Given the description of an element on the screen output the (x, y) to click on. 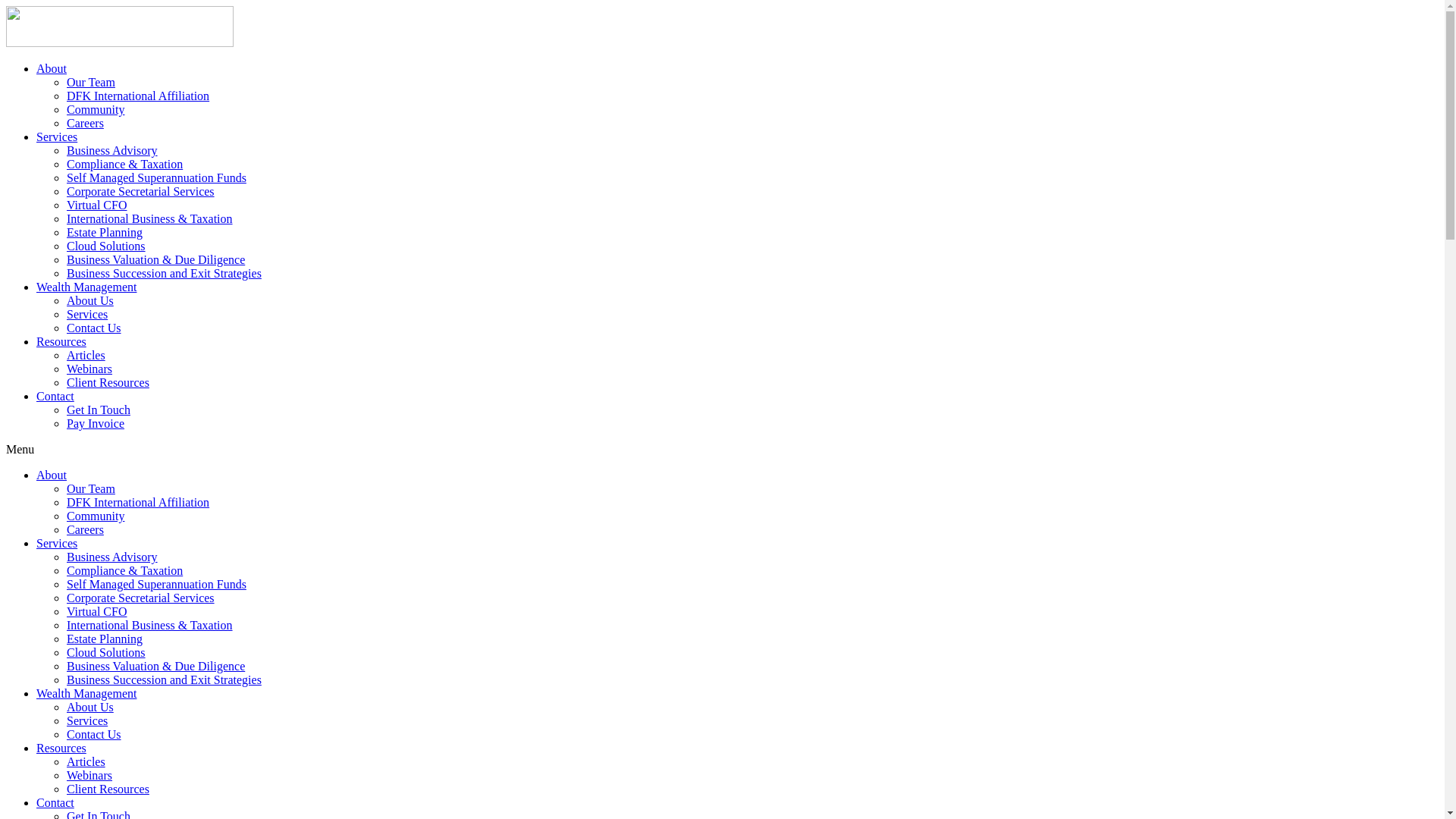
DFK International Affiliation Element type: text (137, 501)
Get In Touch Element type: text (98, 409)
Virtual CFO Element type: text (96, 611)
Community Element type: text (95, 109)
Services Element type: text (86, 720)
Resources Element type: text (61, 341)
Contact Us Element type: text (93, 734)
Compliance & Taxation Element type: text (124, 570)
Business Valuation & Due Diligence Element type: text (155, 665)
Careers Element type: text (84, 122)
Articles Element type: text (85, 761)
Virtual CFO Element type: text (96, 204)
Cloud Solutions Element type: text (105, 652)
Business Valuation & Due Diligence Element type: text (155, 259)
International Business & Taxation Element type: text (149, 218)
Our Team Element type: text (90, 488)
Business Succession and Exit Strategies Element type: text (163, 272)
Community Element type: text (95, 515)
Contact Element type: text (55, 395)
Wealth Management Element type: text (86, 693)
Contact Element type: text (55, 802)
About Us Element type: text (89, 706)
Resources Element type: text (61, 747)
Services Element type: text (56, 542)
Careers Element type: text (84, 529)
Client Resources Element type: text (107, 788)
Webinars Element type: text (89, 774)
Services Element type: text (56, 136)
Corporate Secretarial Services Element type: text (140, 597)
Articles Element type: text (85, 354)
Self Managed Superannuation Funds Element type: text (156, 177)
Business Succession and Exit Strategies Element type: text (163, 679)
International Business & Taxation Element type: text (149, 624)
Compliance & Taxation Element type: text (124, 163)
About Element type: text (51, 474)
Client Resources Element type: text (107, 382)
Wealth Management Element type: text (86, 286)
Cloud Solutions Element type: text (105, 245)
Our Team Element type: text (90, 81)
Self Managed Superannuation Funds Element type: text (156, 583)
Business Advisory Element type: text (111, 150)
Estate Planning Element type: text (104, 231)
Corporate Secretarial Services Element type: text (140, 191)
Pay Invoice Element type: text (95, 423)
About Us Element type: text (89, 300)
Contact Us Element type: text (93, 327)
Webinars Element type: text (89, 368)
DFK International Affiliation Element type: text (137, 95)
Services Element type: text (86, 313)
About Element type: text (51, 68)
Business Advisory Element type: text (111, 556)
Estate Planning Element type: text (104, 638)
